Given the description of an element on the screen output the (x, y) to click on. 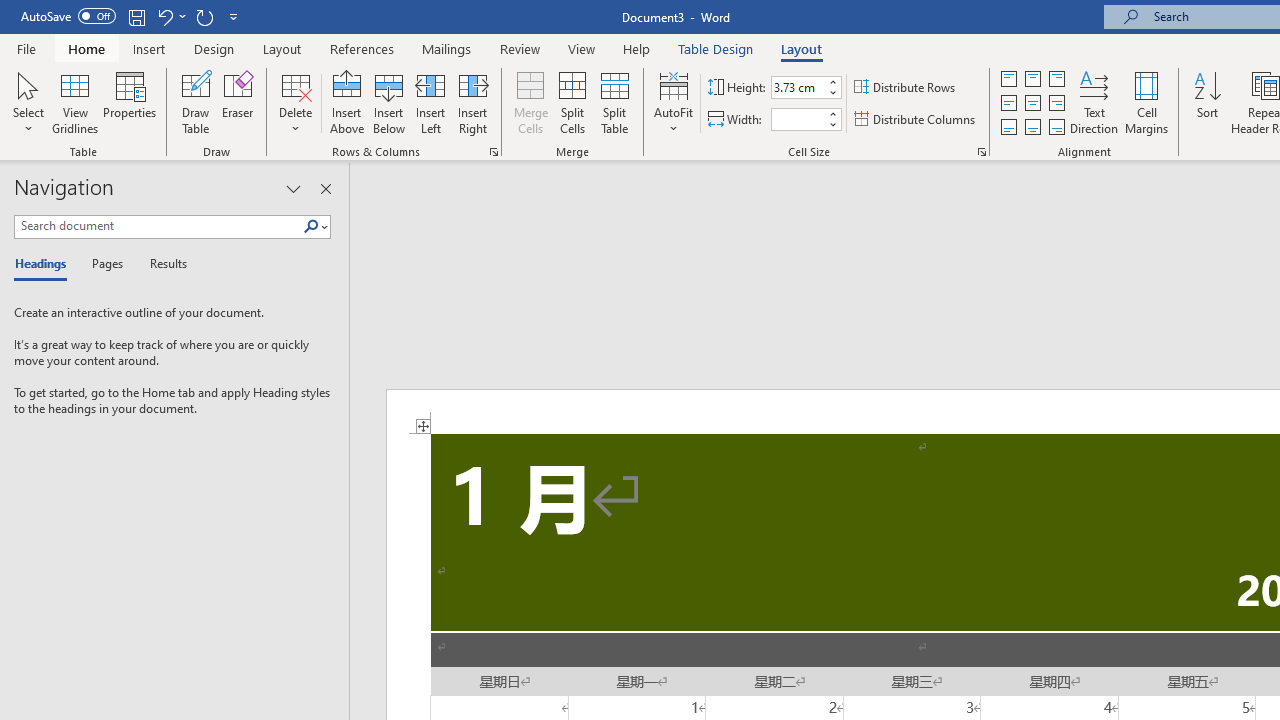
View Gridlines (75, 102)
Less (832, 124)
Eraser (237, 102)
More (832, 113)
Align Center (1032, 103)
Align Bottom Center (1032, 126)
Align Center Right (1056, 103)
